Given the description of an element on the screen output the (x, y) to click on. 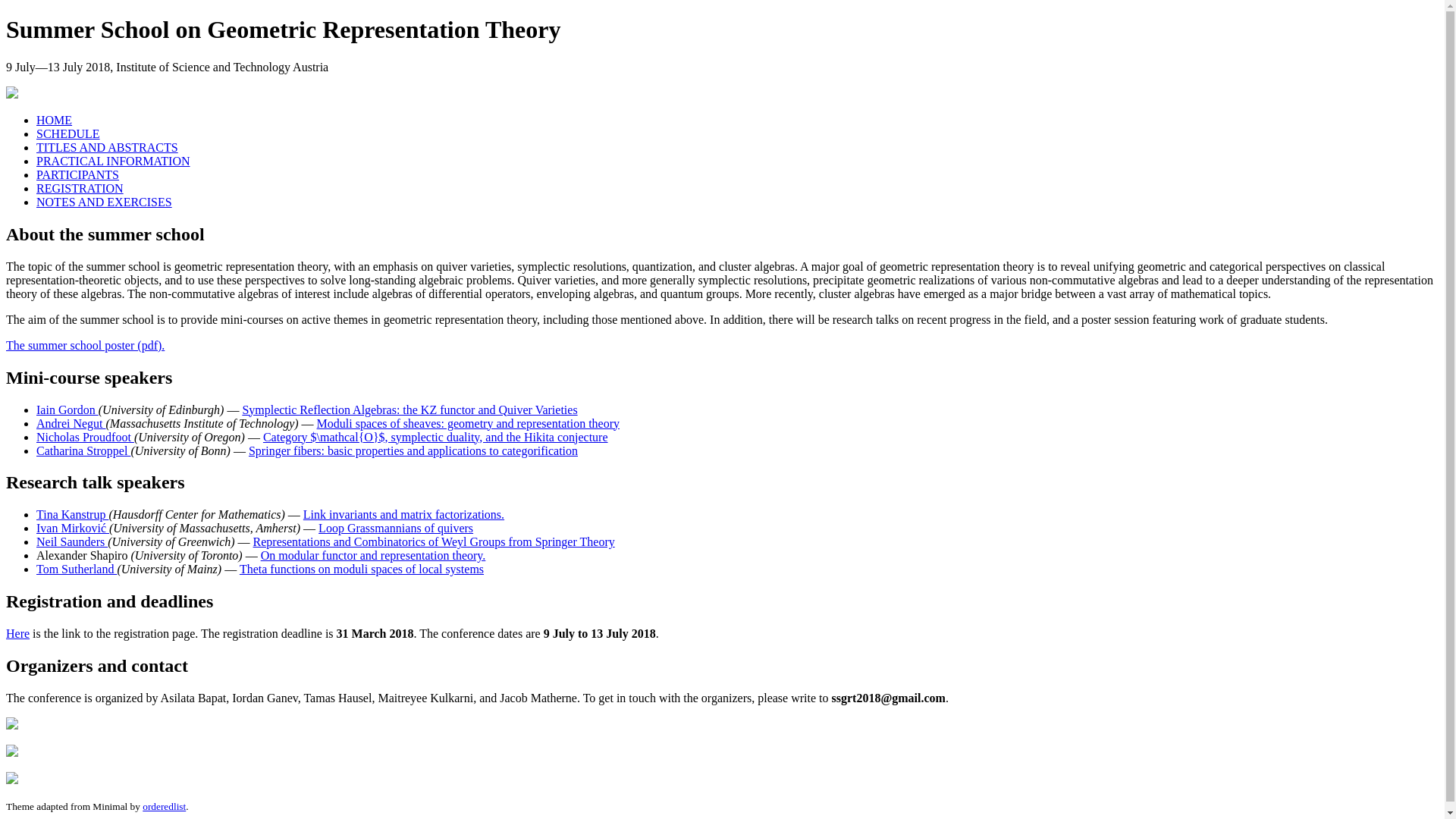
TITLES AND ABSTRACTS (106, 146)
Nicholas Proudfoot (84, 436)
Iain Gordon (67, 409)
PARTICIPANTS (77, 174)
On modular functor and representation theory. (373, 554)
Neil Saunders (71, 541)
HOME (53, 119)
Tina Kanstrup (71, 513)
Catharina Stroppel (83, 450)
Here (17, 633)
Loop Grassmannians of quivers (395, 527)
Theta functions on moduli spaces of local systems (361, 568)
Link invariants and matrix factorizations. (402, 513)
Andrei Negut (71, 422)
